Given the description of an element on the screen output the (x, y) to click on. 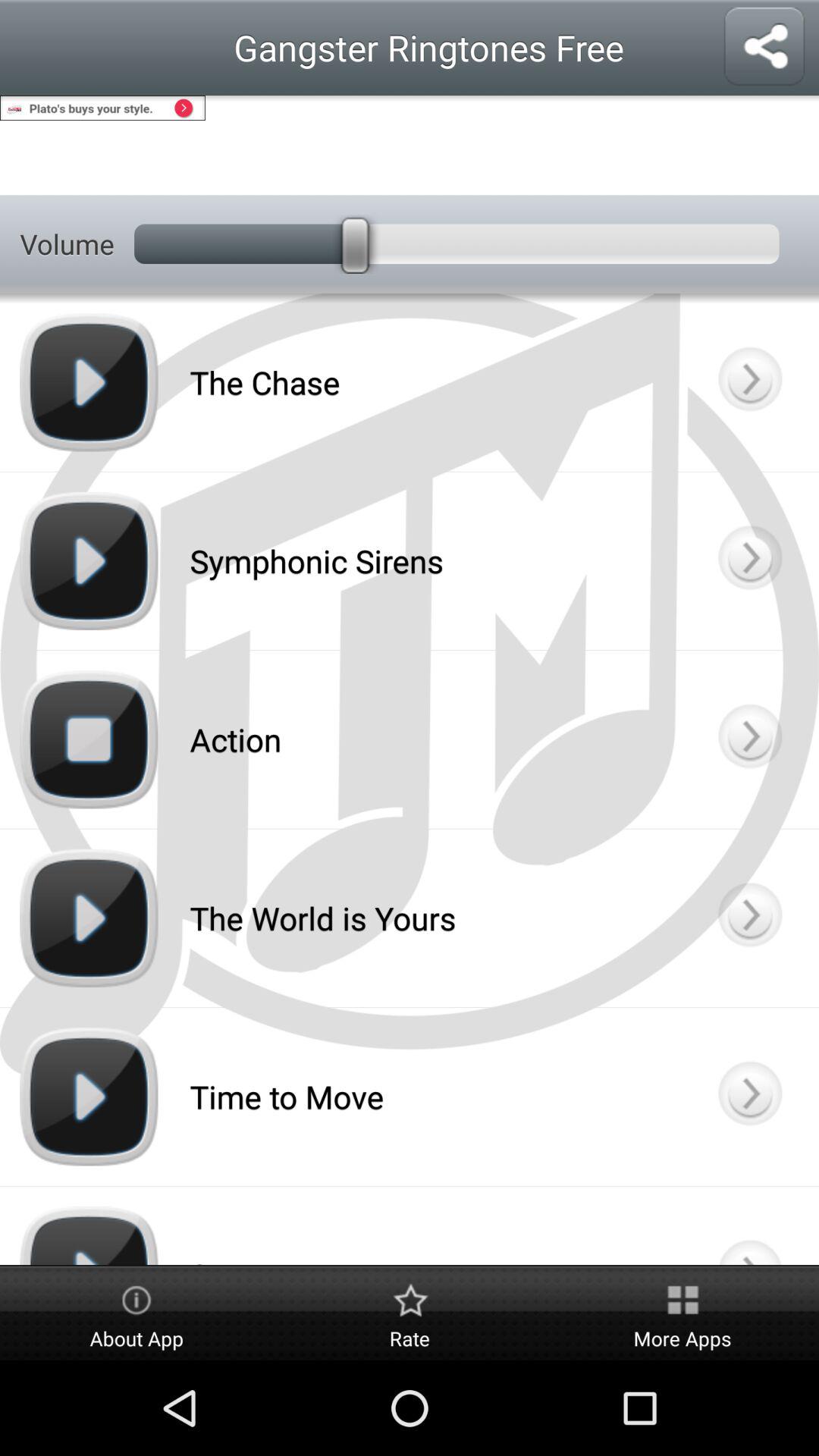
back ward (749, 1096)
